Given the description of an element on the screen output the (x, y) to click on. 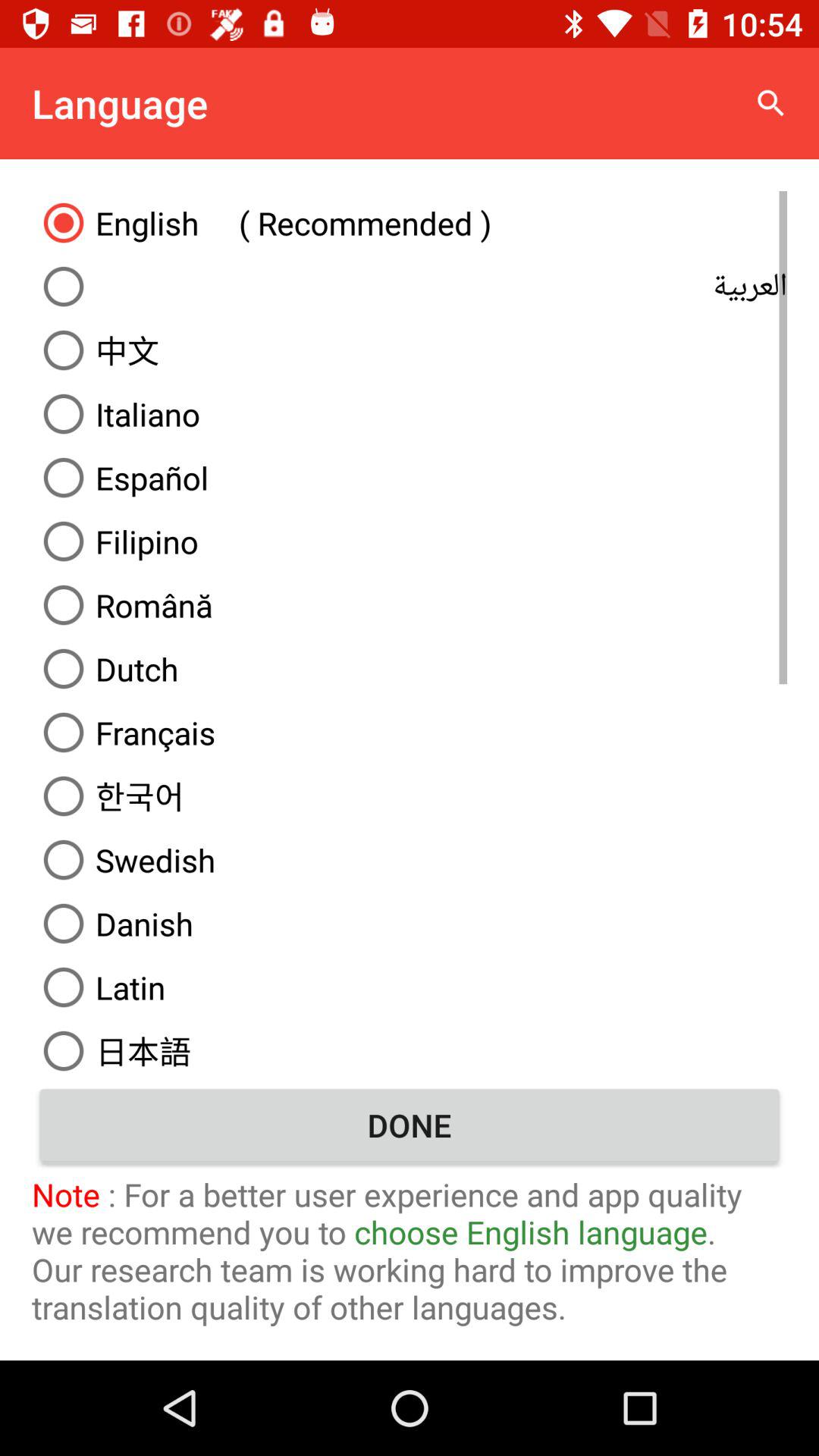
click icon above dutch (409, 605)
